Given the description of an element on the screen output the (x, y) to click on. 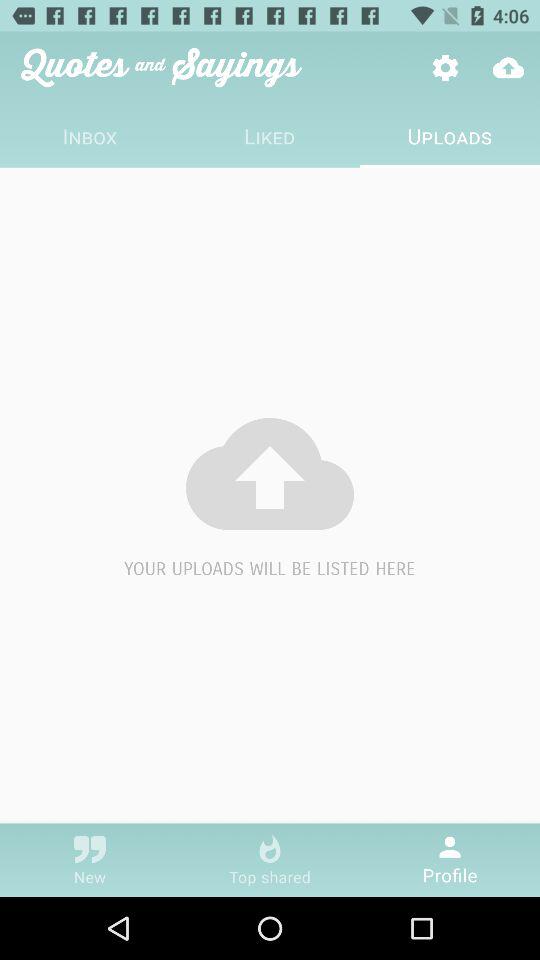
open icon above uploads item (508, 67)
